Given the description of an element on the screen output the (x, y) to click on. 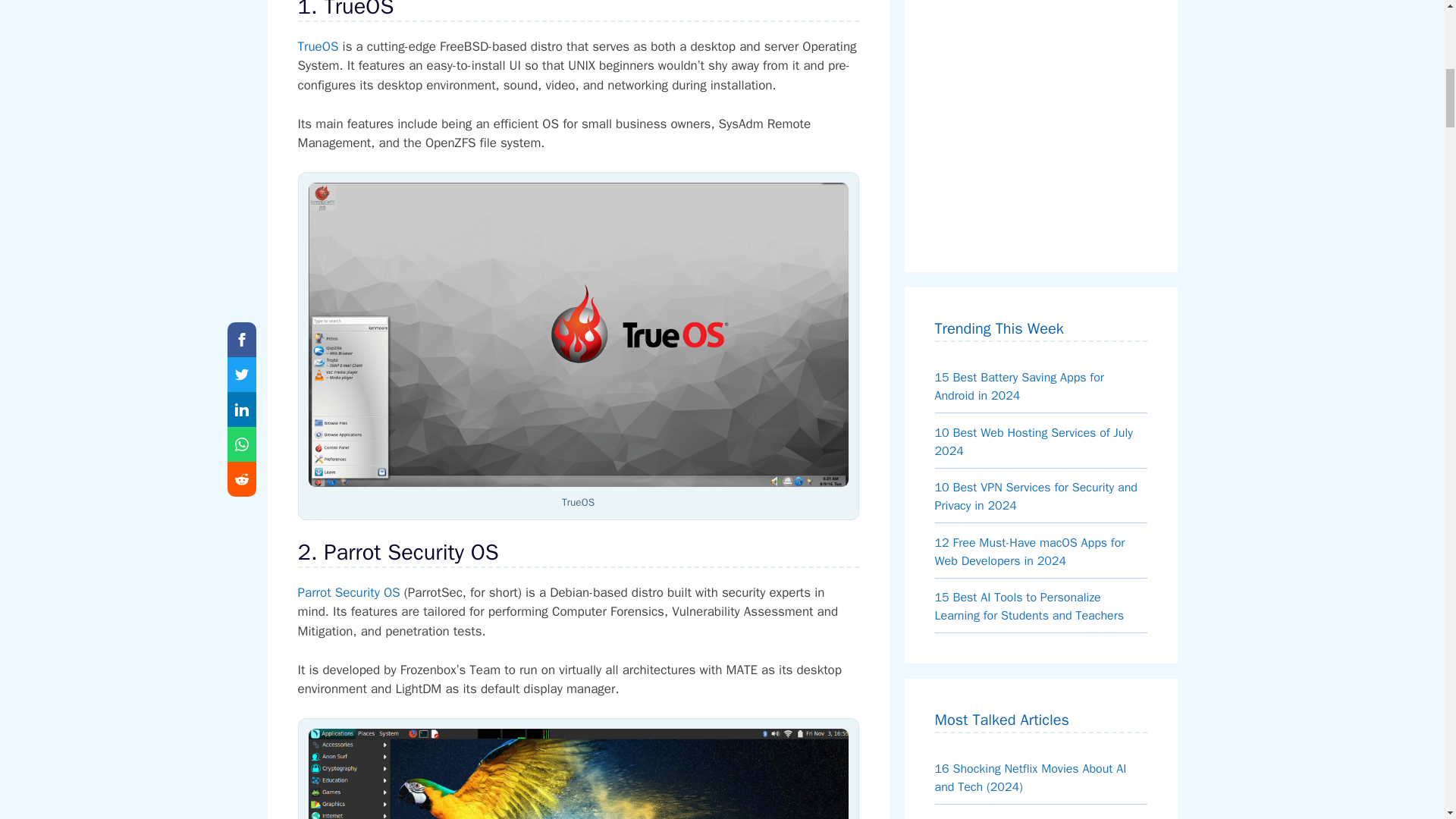
Scroll back to top (1406, 720)
